Given the description of an element on the screen output the (x, y) to click on. 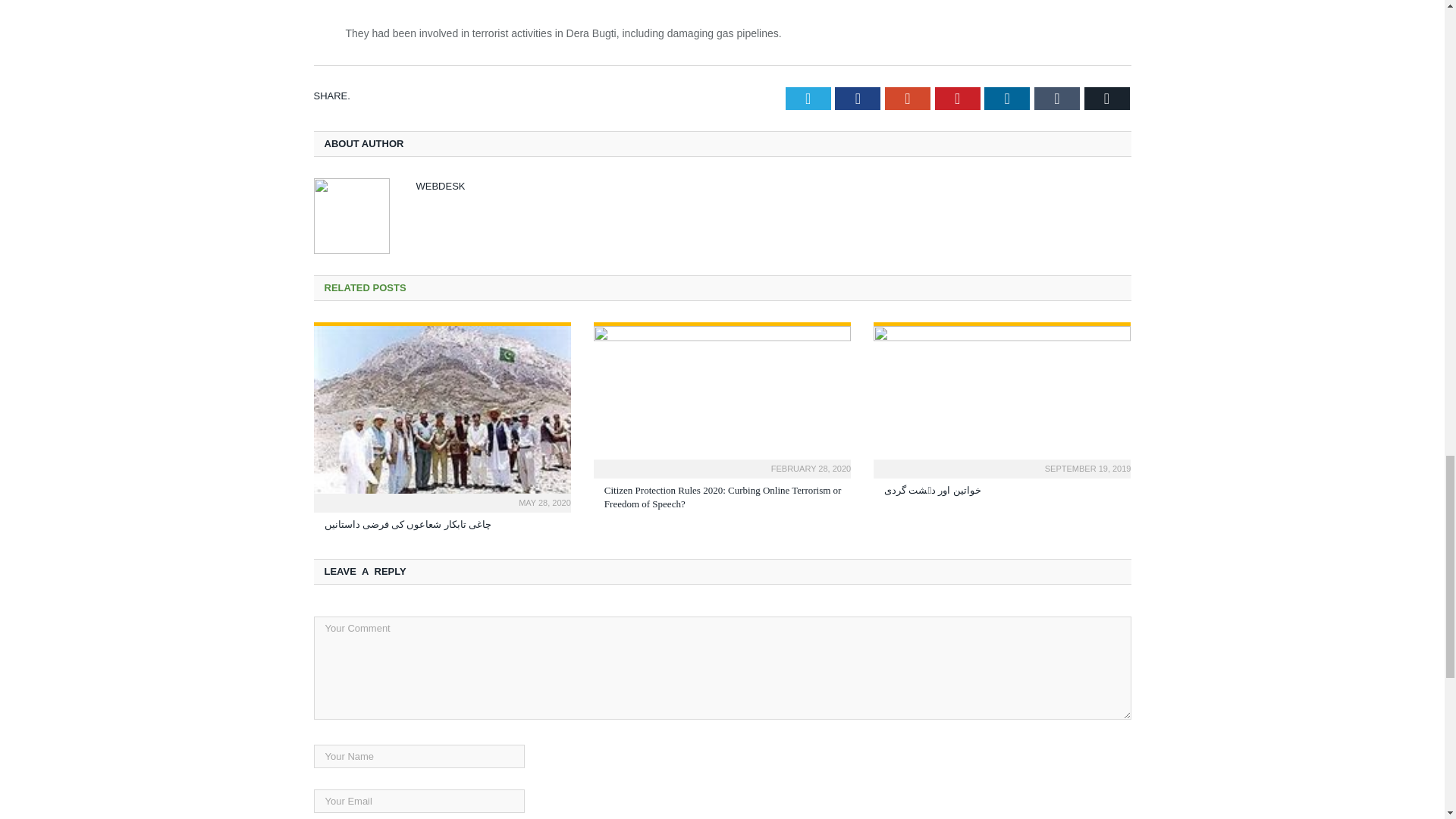
Posts by Webdesk (439, 185)
Share via Email (1106, 97)
Share on Facebook (857, 97)
Share on Pinterest (956, 97)
Tweet It (808, 97)
Share on Tumblr (1056, 97)
Share on LinkedIn (1006, 97)
